Given the description of an element on the screen output the (x, y) to click on. 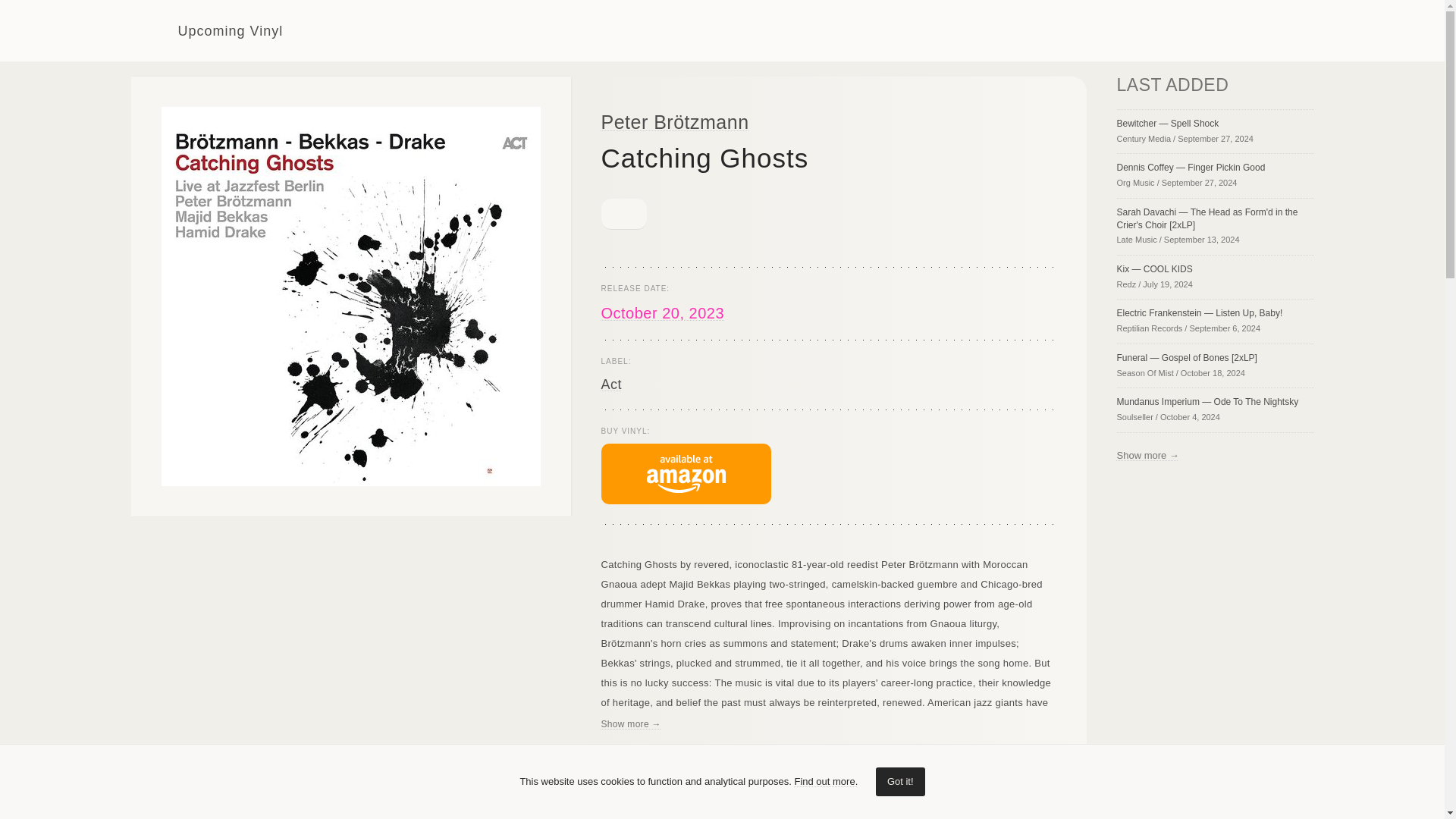
Sign in or create account (1199, 30)
Act (610, 383)
Upcoming Vinyl (206, 30)
October 20, 2023 (661, 312)
Add to favourites (622, 214)
